Given the description of an element on the screen output the (x, y) to click on. 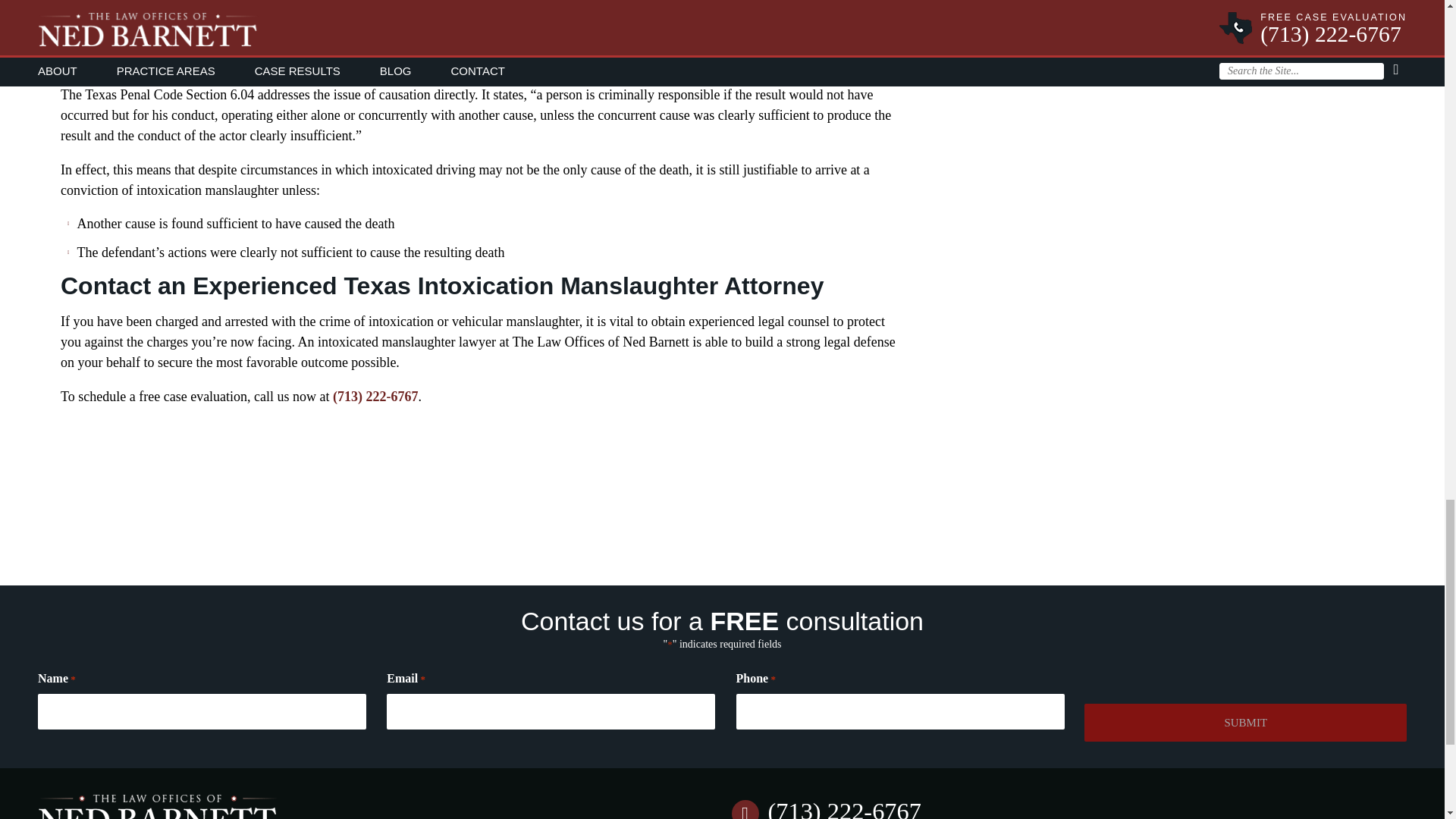
Call The Law Offices of Ned Barnett Today (843, 808)
Call The Law Offices of Ned Barnett Today (375, 396)
Submit (1245, 722)
